Given the description of an element on the screen output the (x, y) to click on. 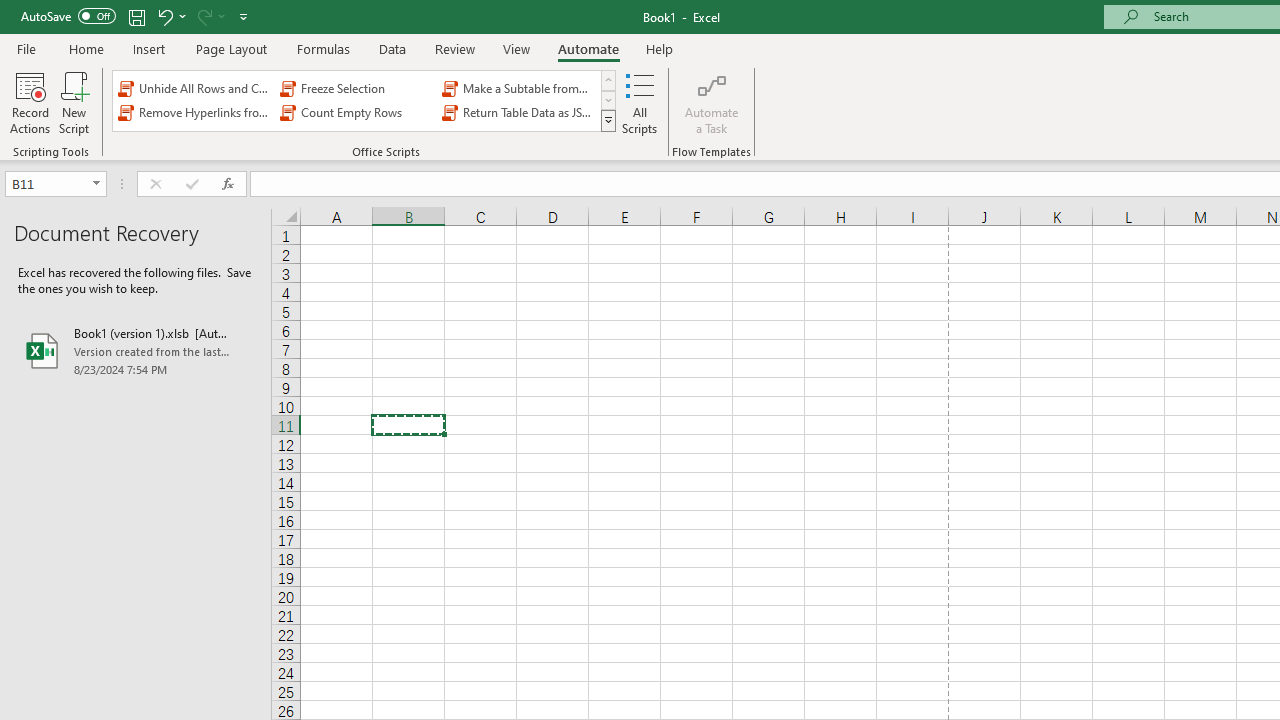
Count Empty Rows (356, 112)
Office Scripts (608, 120)
New Script (73, 102)
Make a Subtable from a Selection (518, 88)
